Given the description of an element on the screen output the (x, y) to click on. 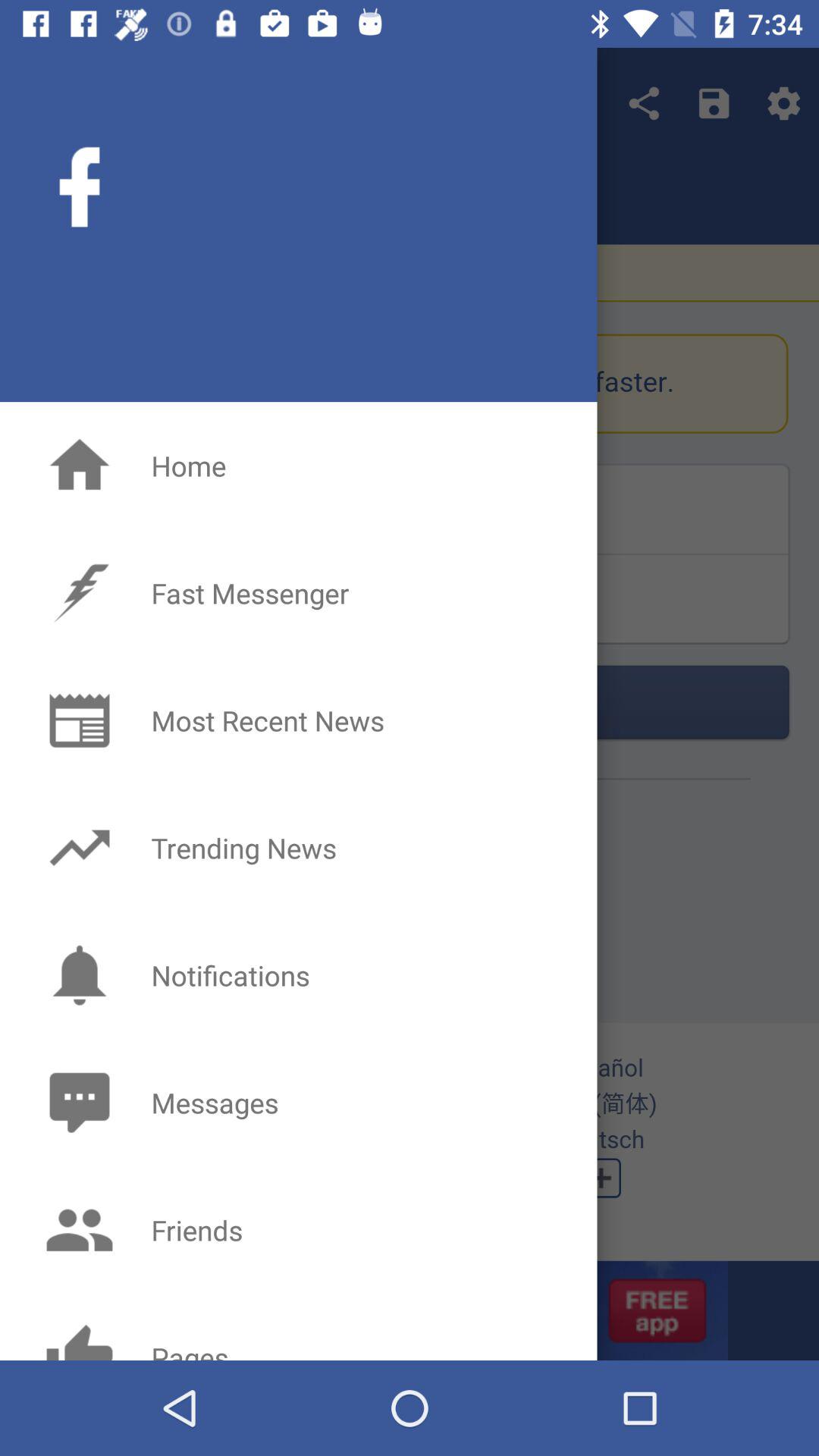
click on the home icon (79, 465)
select the symbol which is to the immediate left of trending news (79, 847)
